Given the description of an element on the screen output the (x, y) to click on. 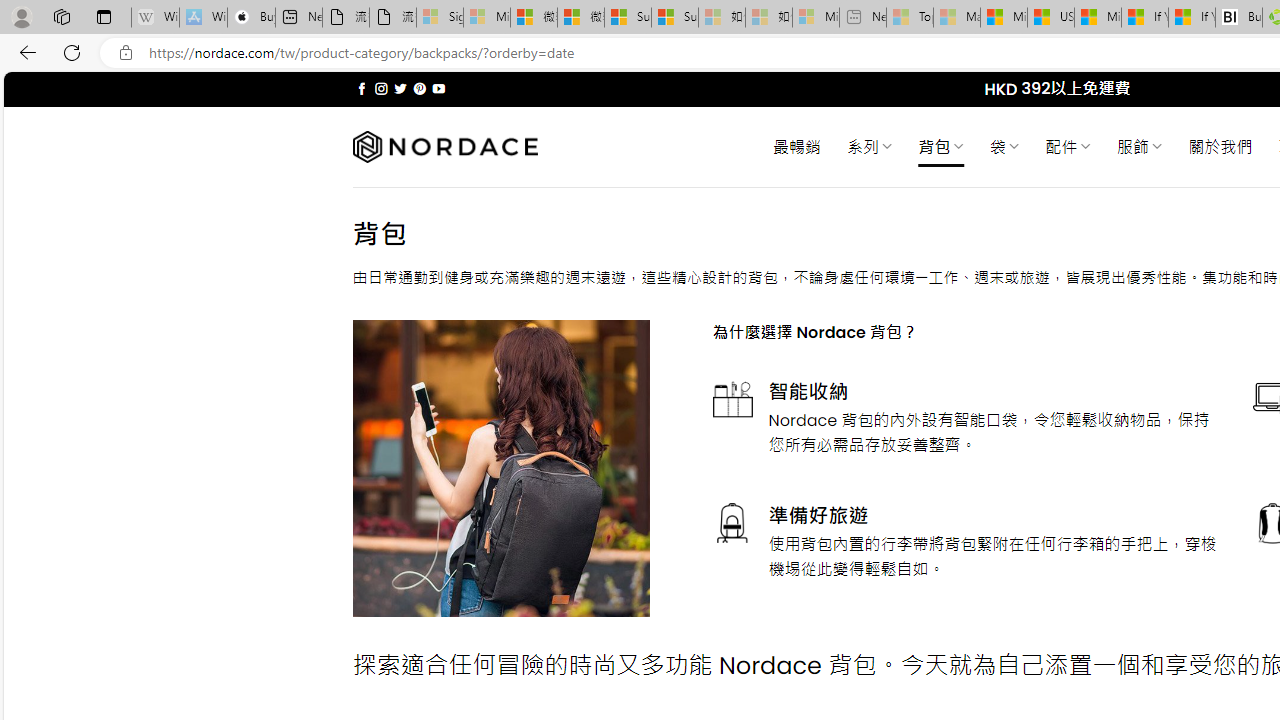
Follow on Twitter (400, 88)
Follow on Pinterest (419, 88)
Marine life - MSN - Sleeping (957, 17)
Sign in to your Microsoft account - Sleeping (440, 17)
Follow on Facebook (361, 88)
